Given the description of an element on the screen output the (x, y) to click on. 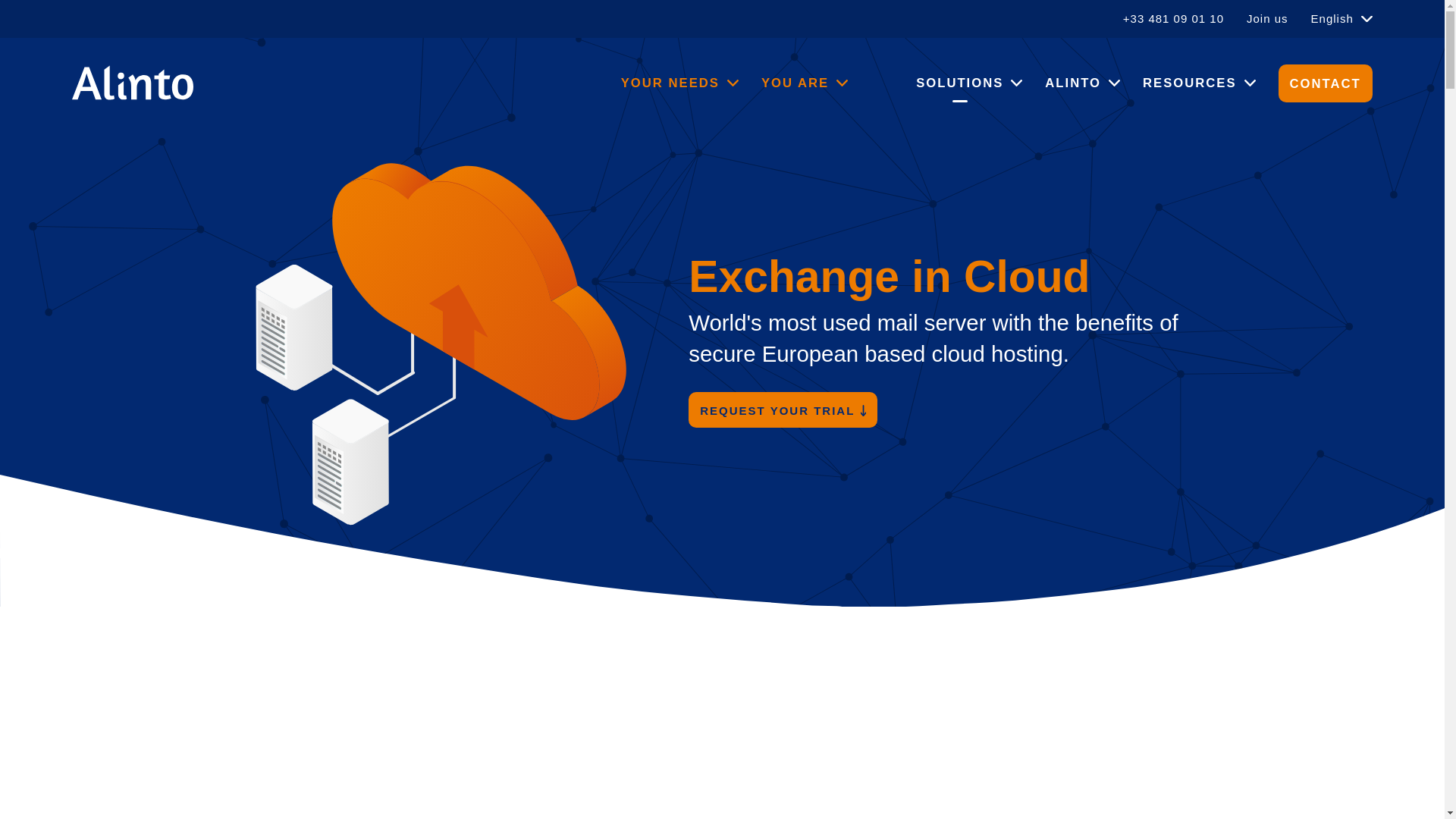
YOUR NEEDS (679, 83)
YOU ARE (804, 83)
English (1342, 18)
ALINTO (1082, 83)
SOLUTIONS (968, 83)
CONTACT (1325, 82)
RESOURCES (1198, 83)
Join us (1267, 18)
English (1342, 18)
